Given the description of an element on the screen output the (x, y) to click on. 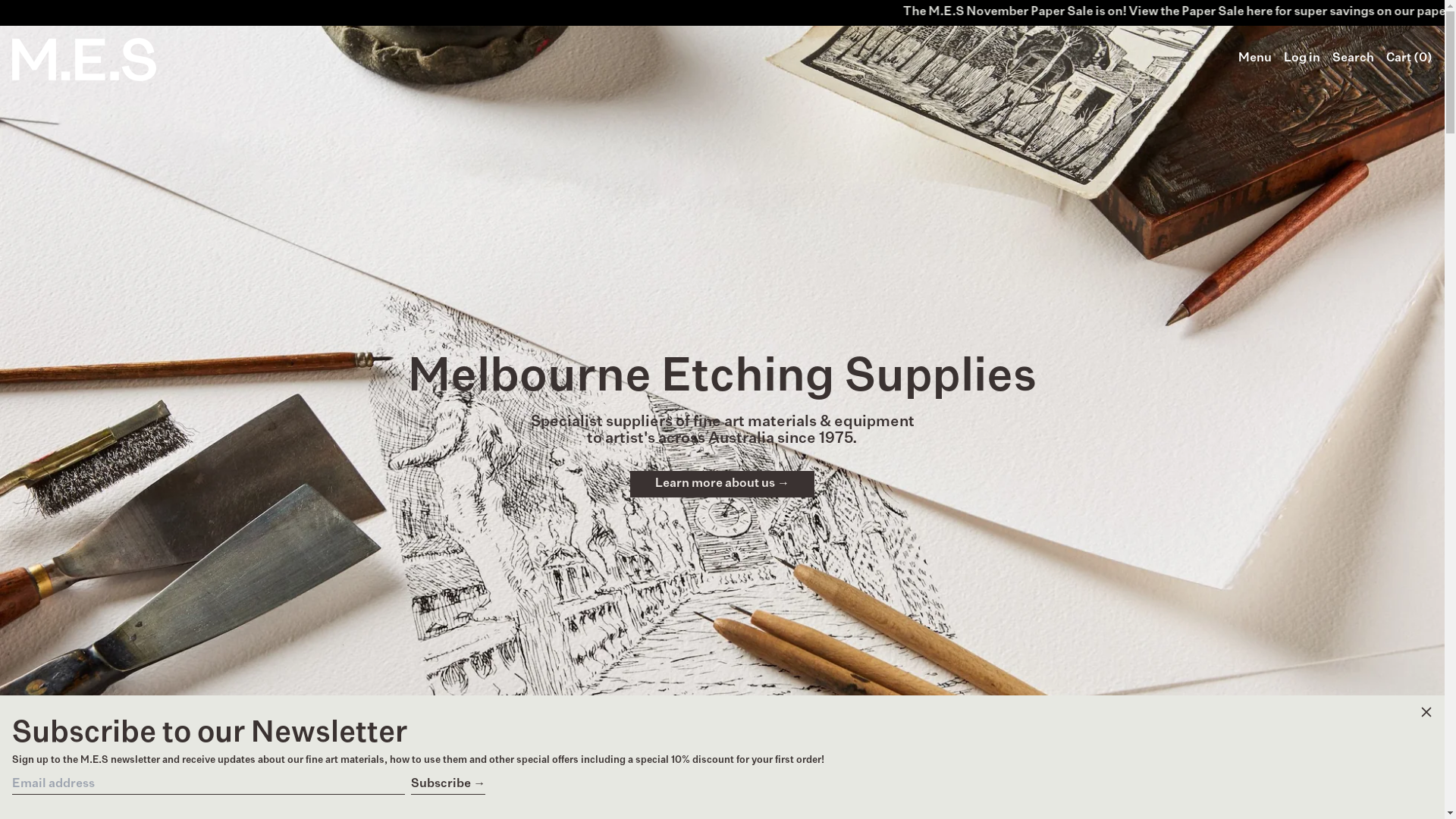
Menu Element type: text (1254, 59)
Search Element type: text (1353, 59)
Close Element type: text (1426, 714)
Log in Element type: text (1301, 59)
Cart (0) Element type: text (1409, 59)
